Given the description of an element on the screen output the (x, y) to click on. 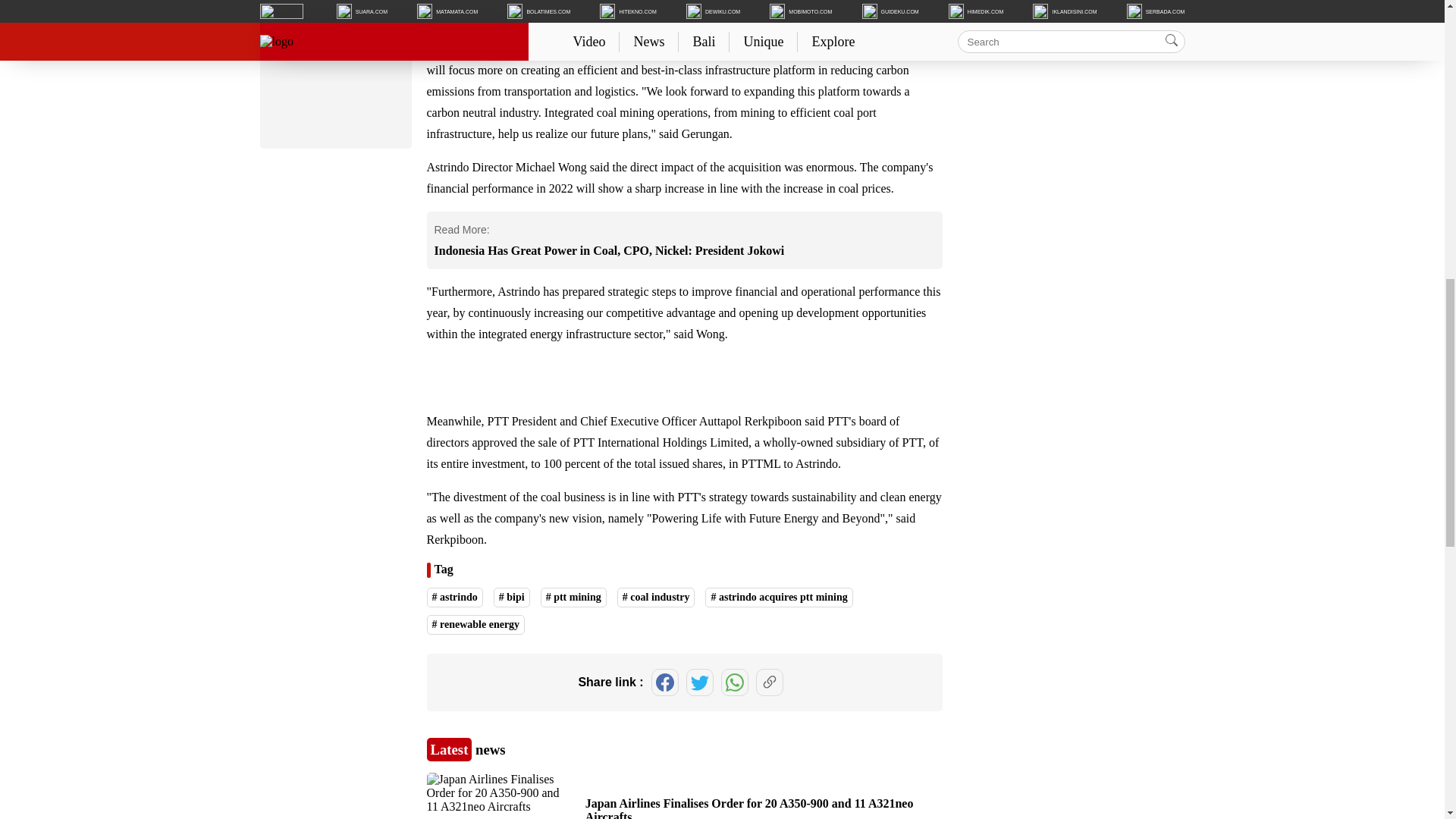
ptt mining (573, 597)
astrindo acquires ptt mining (777, 597)
bipi (511, 597)
renewable energy (475, 624)
coal industry (656, 597)
astrindo (453, 597)
